Given the description of an element on the screen output the (x, y) to click on. 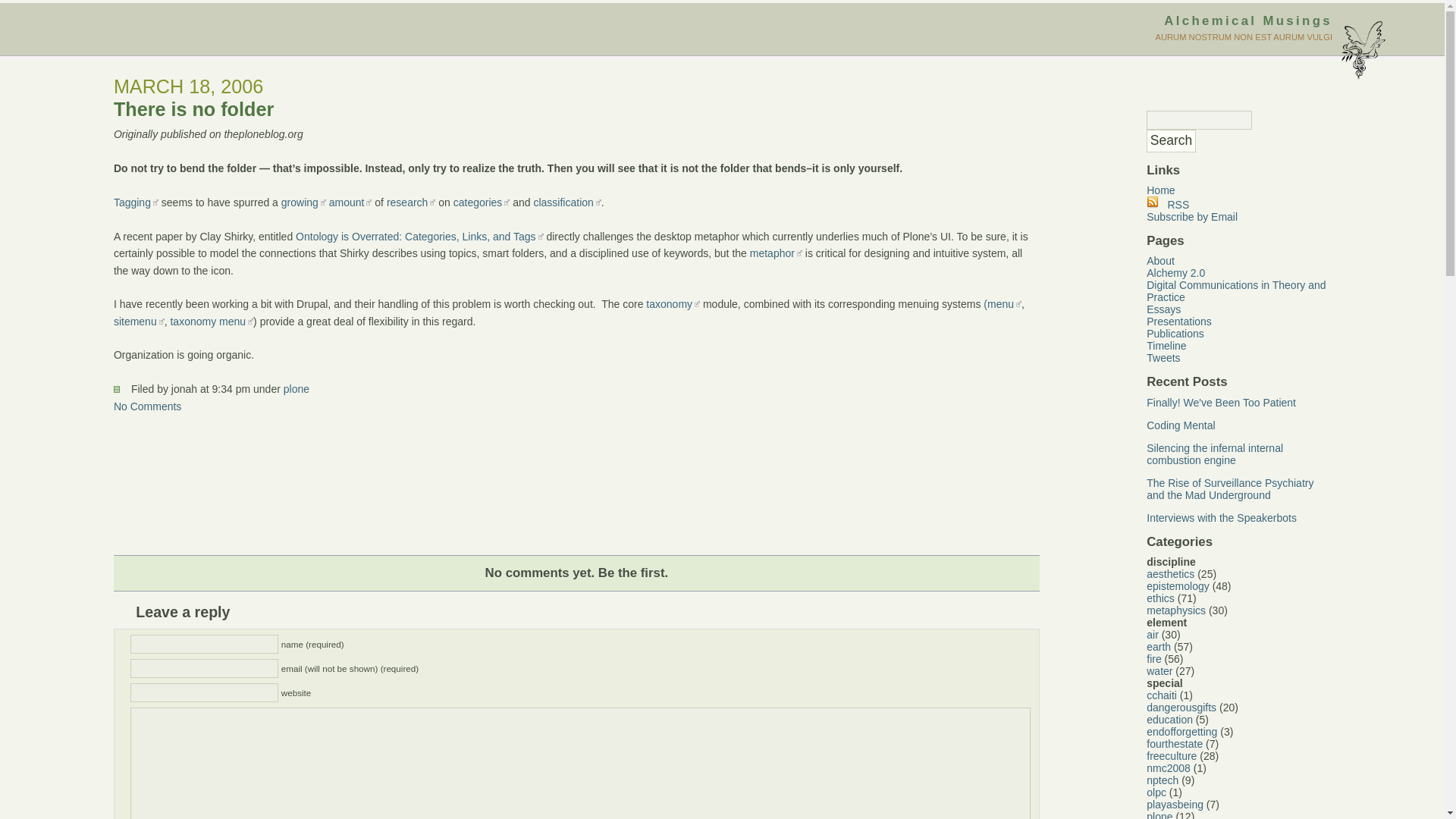
plone (295, 388)
Alchemical Musings (1247, 20)
research (411, 202)
Silencing the infernal internal combustion engine (1214, 454)
classification (565, 202)
taxonomy (673, 304)
amount (350, 202)
Publications (1175, 333)
aesthetics (1170, 573)
categories (481, 202)
Tweets (1163, 357)
The Rise of Surveillance Psychiatry and the Mad Underground (1230, 488)
Presentations (1179, 321)
sitemenu (138, 321)
earth (1158, 646)
